Given the description of an element on the screen output the (x, y) to click on. 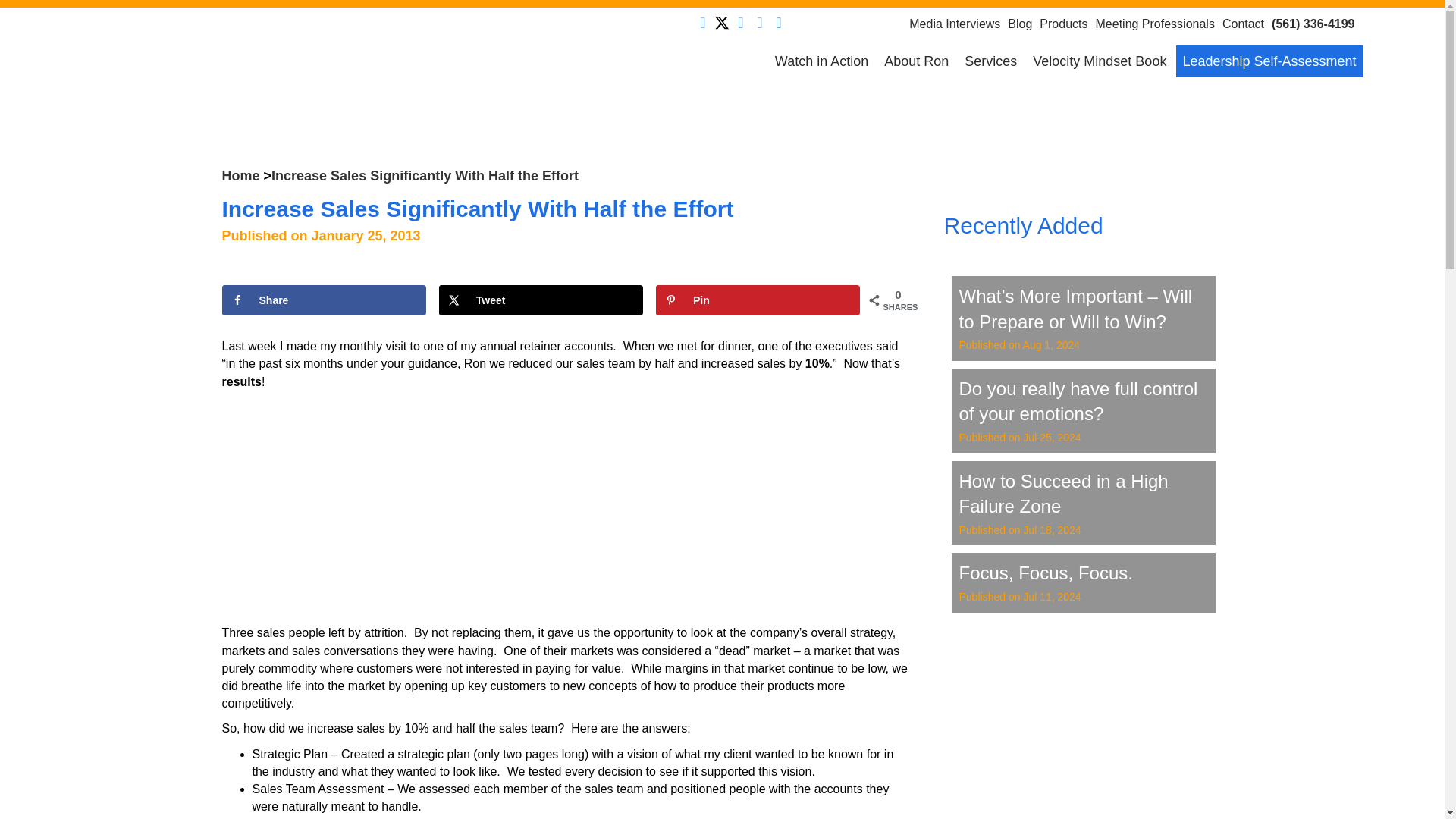
Contact (1247, 23)
Media Interviews (957, 23)
Facebook (702, 22)
Save to Pinterest (758, 300)
Blog (1023, 23)
About Ron (916, 60)
Services (990, 60)
Instagram (778, 22)
Velocity Mindset Book (1099, 60)
LinkedIn (740, 22)
